Given the description of an element on the screen output the (x, y) to click on. 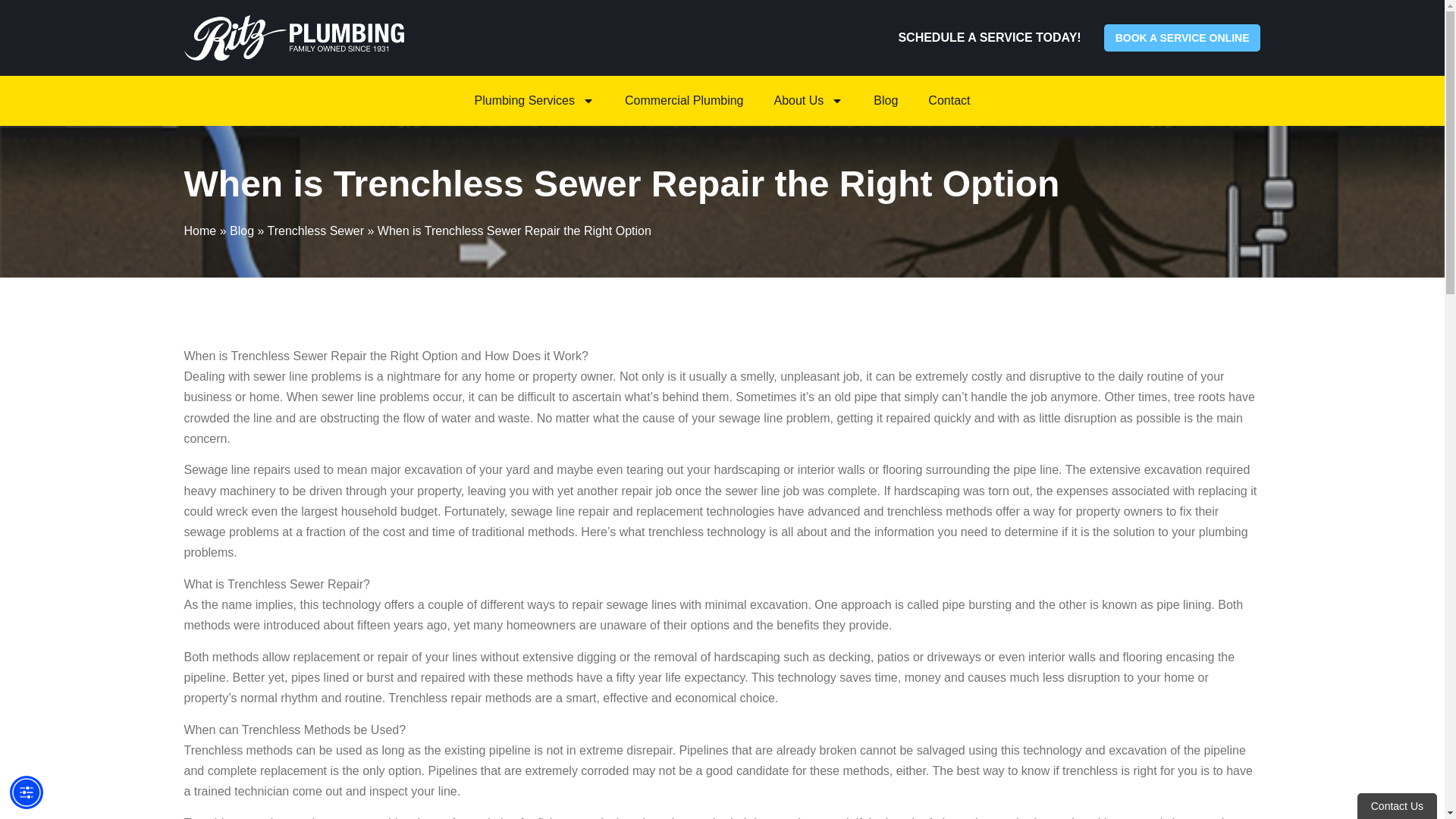
Plumbing Services (535, 100)
About Us (808, 100)
Contact (948, 100)
Trenchless Sewer (315, 230)
BOOK A SERVICE ONLINE (1181, 38)
Blog (885, 100)
Accessibility Menu (26, 792)
Blog (241, 230)
Commercial Plumbing (684, 100)
Home (199, 230)
